Given the description of an element on the screen output the (x, y) to click on. 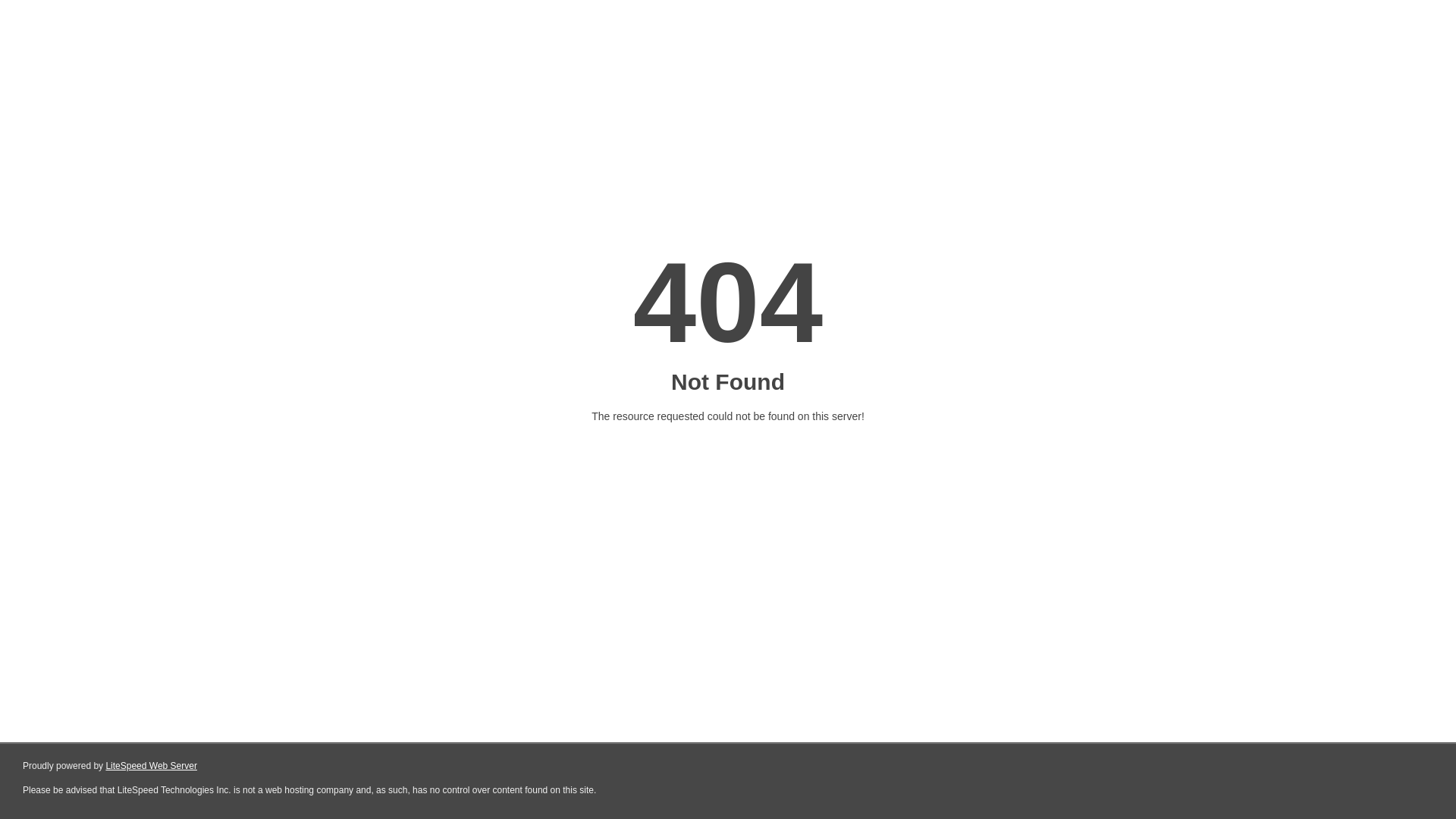
LiteSpeed Web Server Element type: text (151, 765)
